Given the description of an element on the screen output the (x, y) to click on. 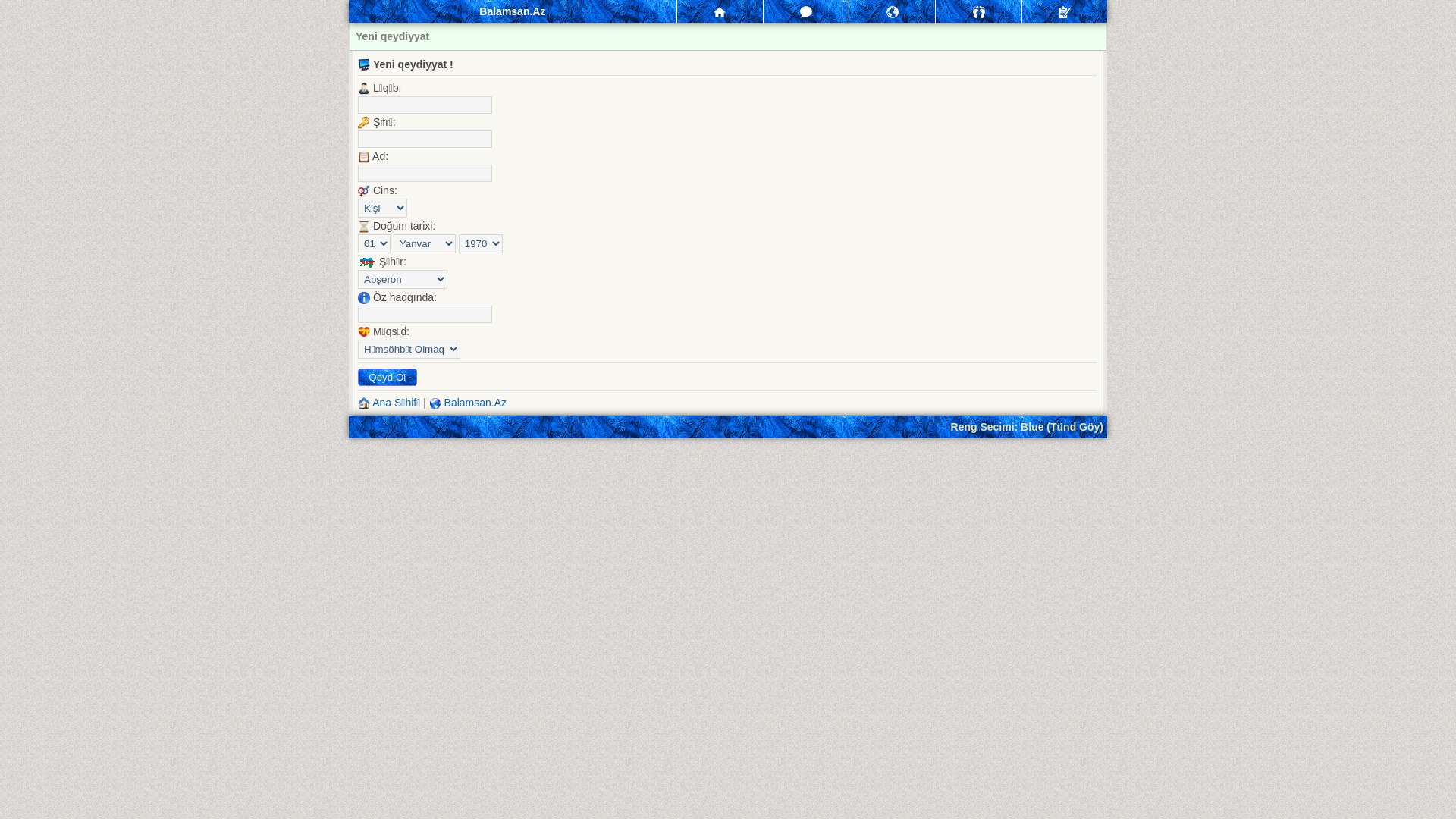
Qeyd Ol Element type: text (387, 376)
Bildirisler Element type: hover (892, 11)
Qonaqlar Element type: hover (978, 11)
Qeydiyyat Element type: hover (1064, 11)
Balamsan.Az Element type: text (475, 402)
Mesajlar Element type: hover (806, 11)
